Given the description of an element on the screen output the (x, y) to click on. 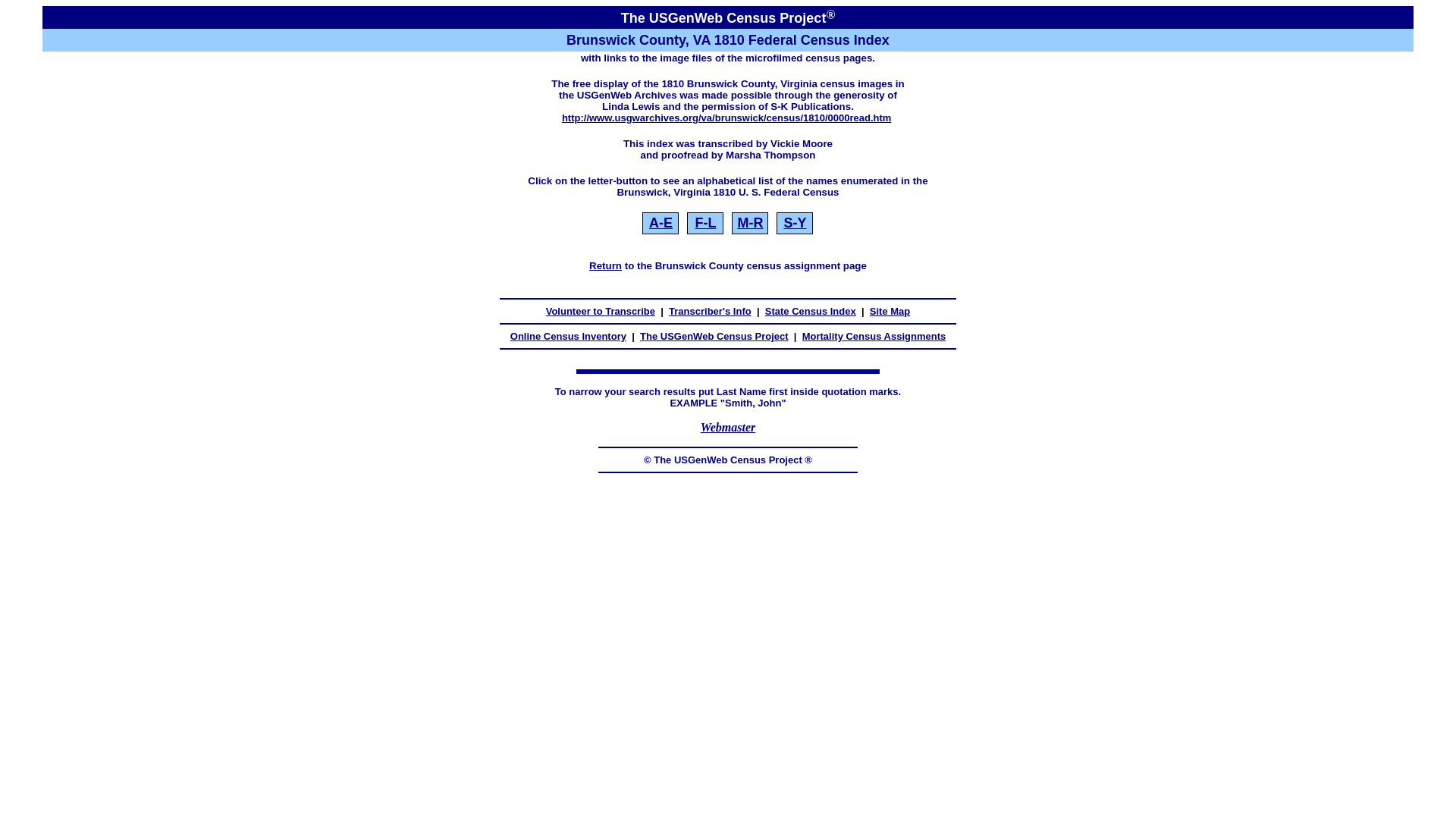
Volunteer to Transcribe (600, 310)
Site Map (889, 310)
Webmaster (727, 427)
The USGenWeb Census Project (714, 336)
Mortality Census Assignments (874, 336)
Online Census Inventory (568, 336)
Transcriber's Info (709, 310)
State Census Index (810, 310)
Return (605, 265)
